Given the description of an element on the screen output the (x, y) to click on. 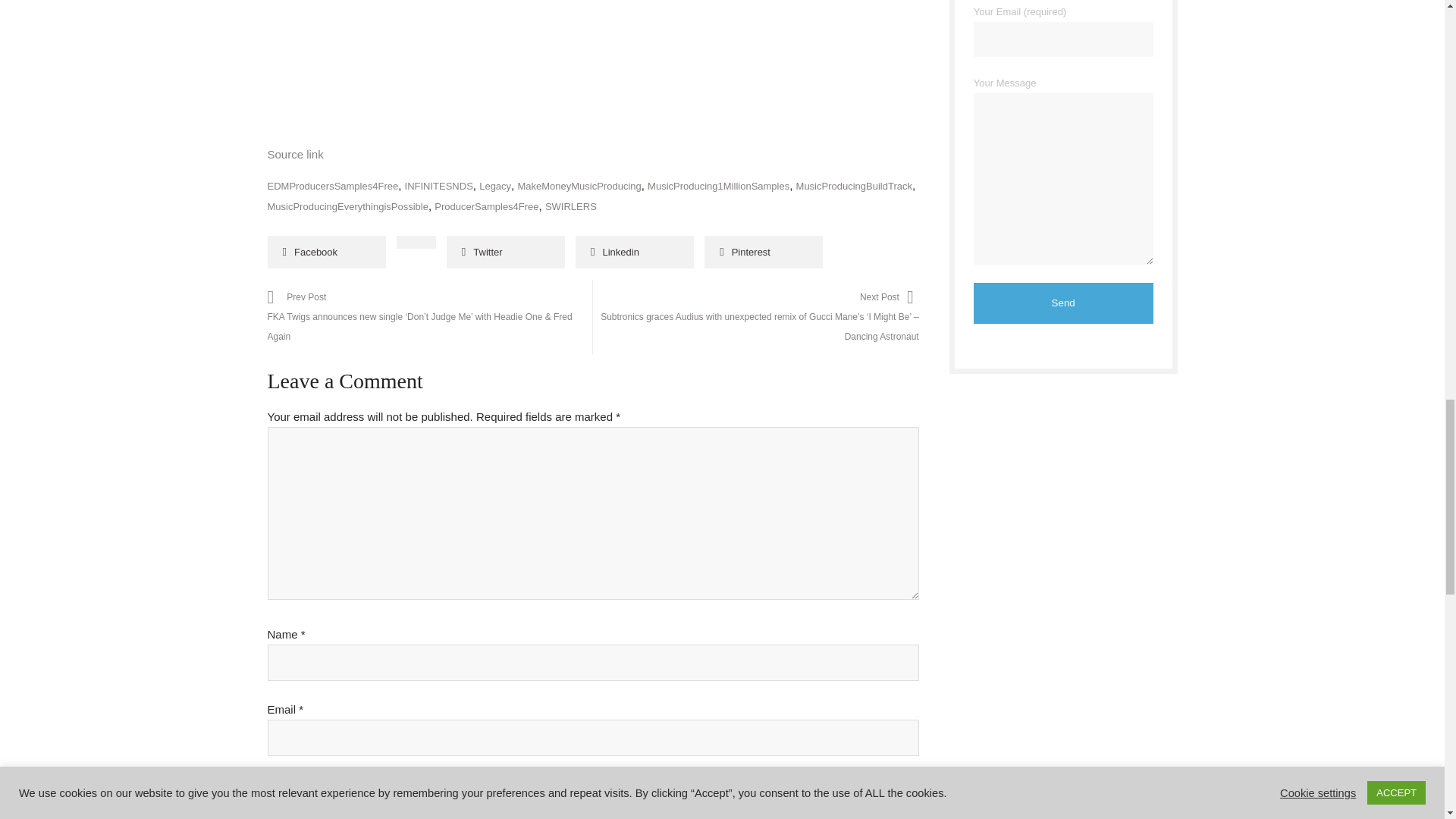
MusicProducing1MillionSamples (718, 185)
INFINITESNDS (438, 185)
SWIRLERS (570, 206)
Legacy (495, 185)
MusicProducingEverythingisPossible (347, 206)
Linkedin (634, 251)
ProducerSamples4Free (485, 206)
The Swirlers - Legacy ft Infinitesnds (585, 11)
Twitter (505, 251)
MusicProducingBuildTrack (854, 185)
